Given the description of an element on the screen output the (x, y) to click on. 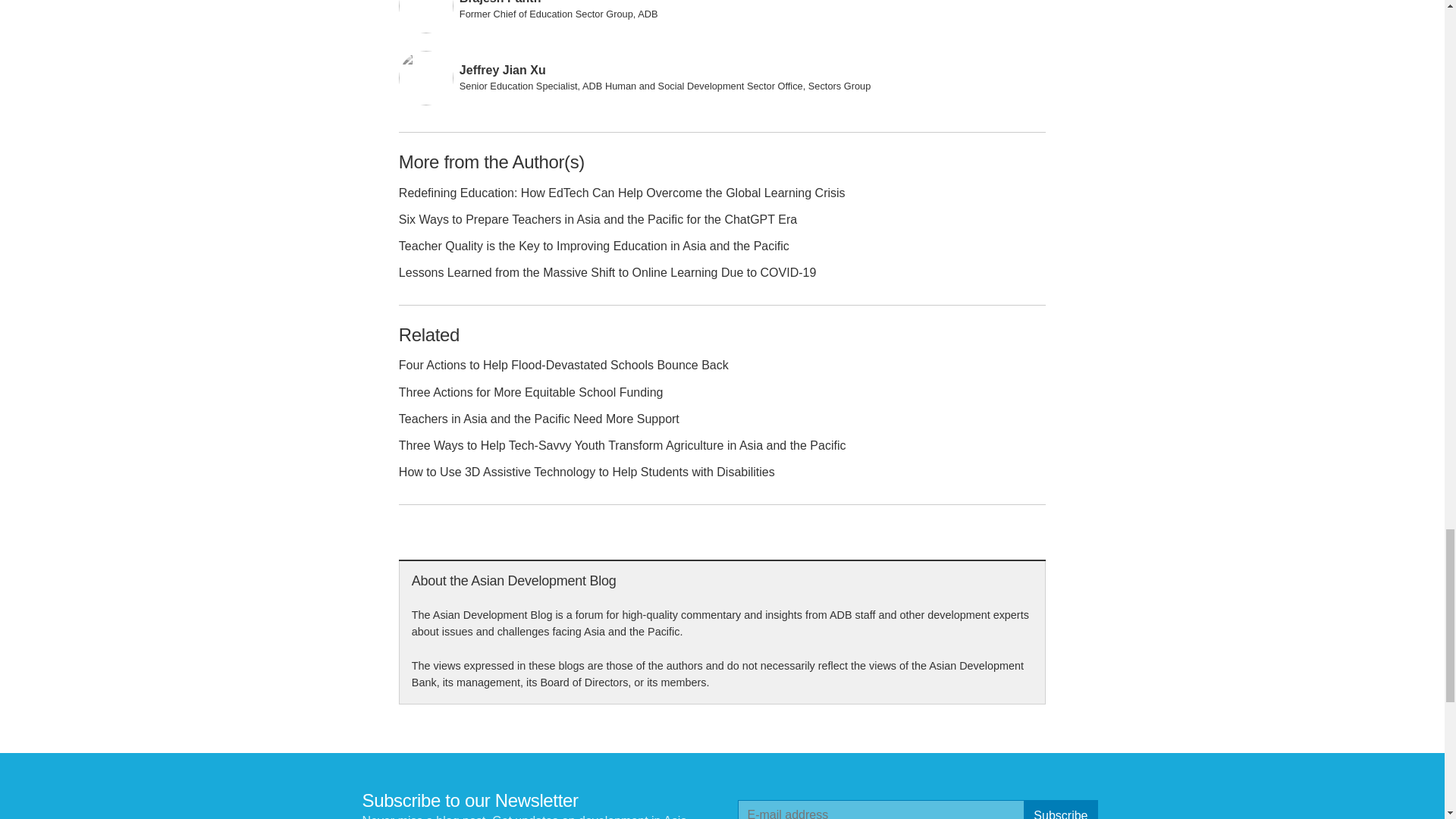
Subscribe (1060, 809)
